Given the description of an element on the screen output the (x, y) to click on. 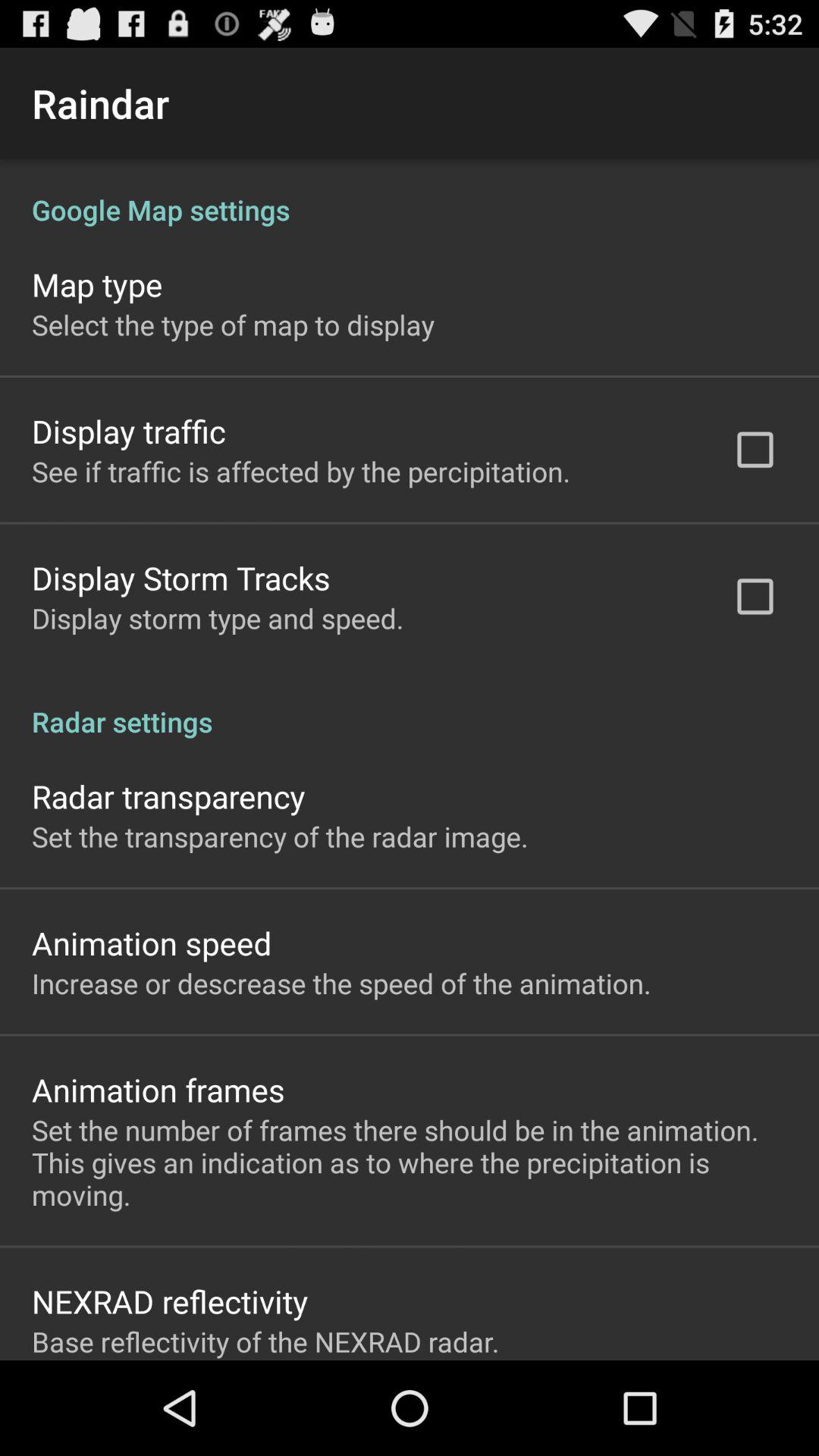
launch the select the type app (232, 324)
